Given the description of an element on the screen output the (x, y) to click on. 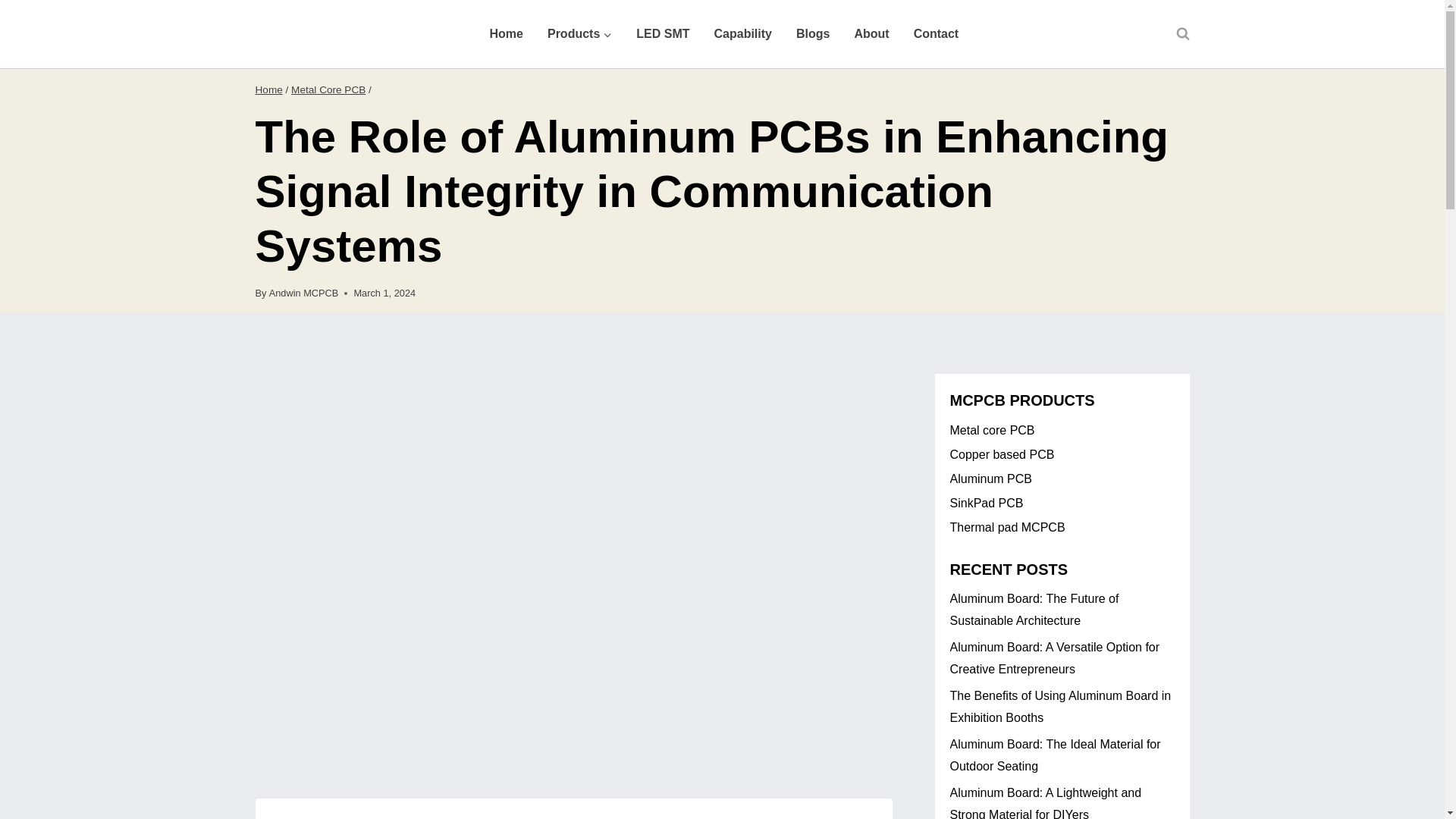
Metal Core PCB (328, 89)
Andwin MCPCB (304, 292)
About (871, 33)
LED SMT (662, 33)
Home (268, 89)
Capability (742, 33)
Home (506, 33)
Contact (936, 33)
Products (579, 33)
Blogs (812, 33)
